Given the description of an element on the screen output the (x, y) to click on. 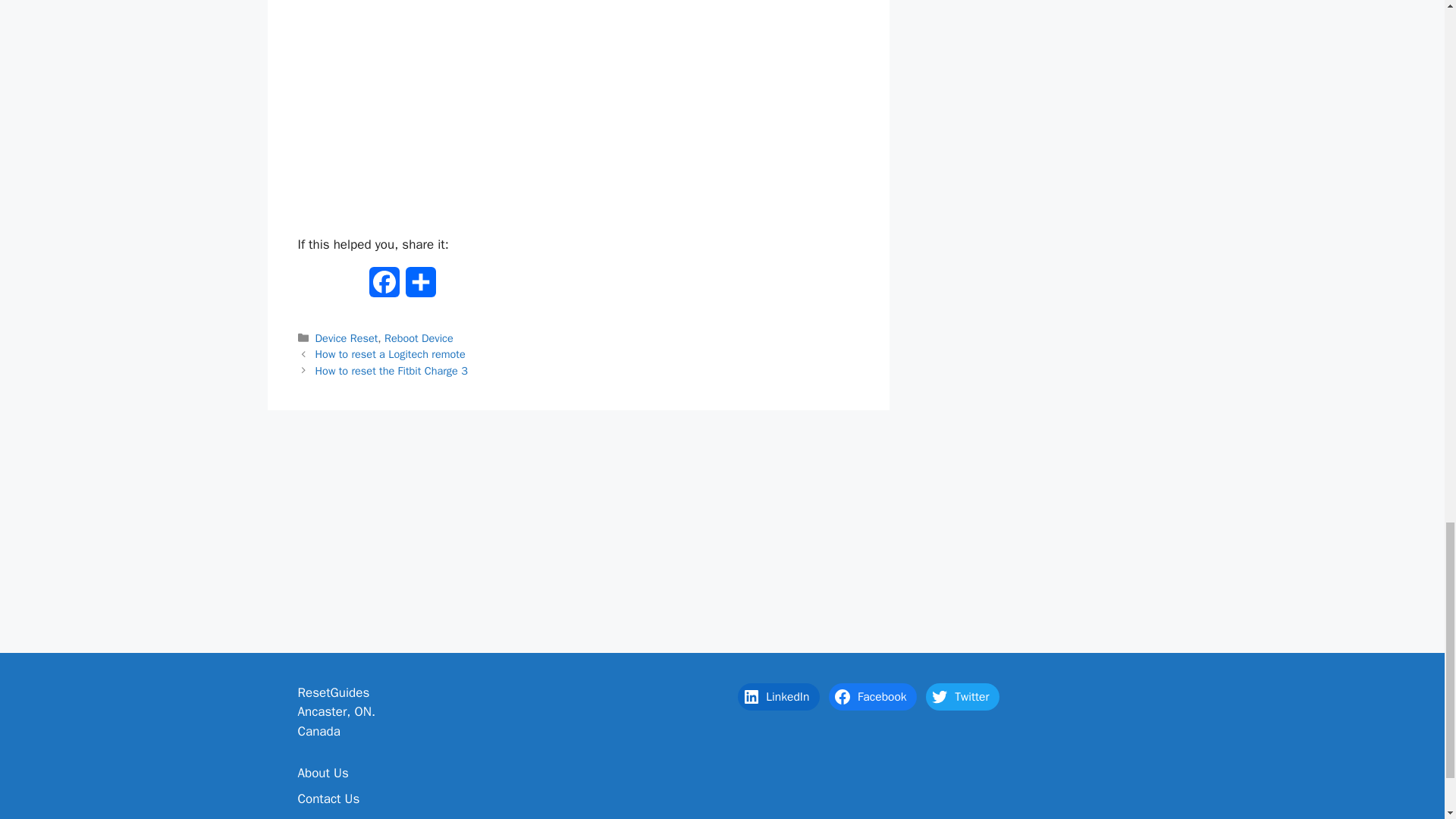
ResetGuides (333, 692)
Device Reset (346, 337)
Facebook (872, 696)
About Us (322, 772)
Contact Us (328, 798)
Twitter (962, 696)
7300 All reset n Load settings (578, 111)
How to reset the Fitbit Charge 3 (391, 370)
How to reset a Logitech remote (390, 354)
LinkedIn (777, 696)
Reboot Device (418, 337)
Privacy Policy (334, 817)
